Given the description of an element on the screen output the (x, y) to click on. 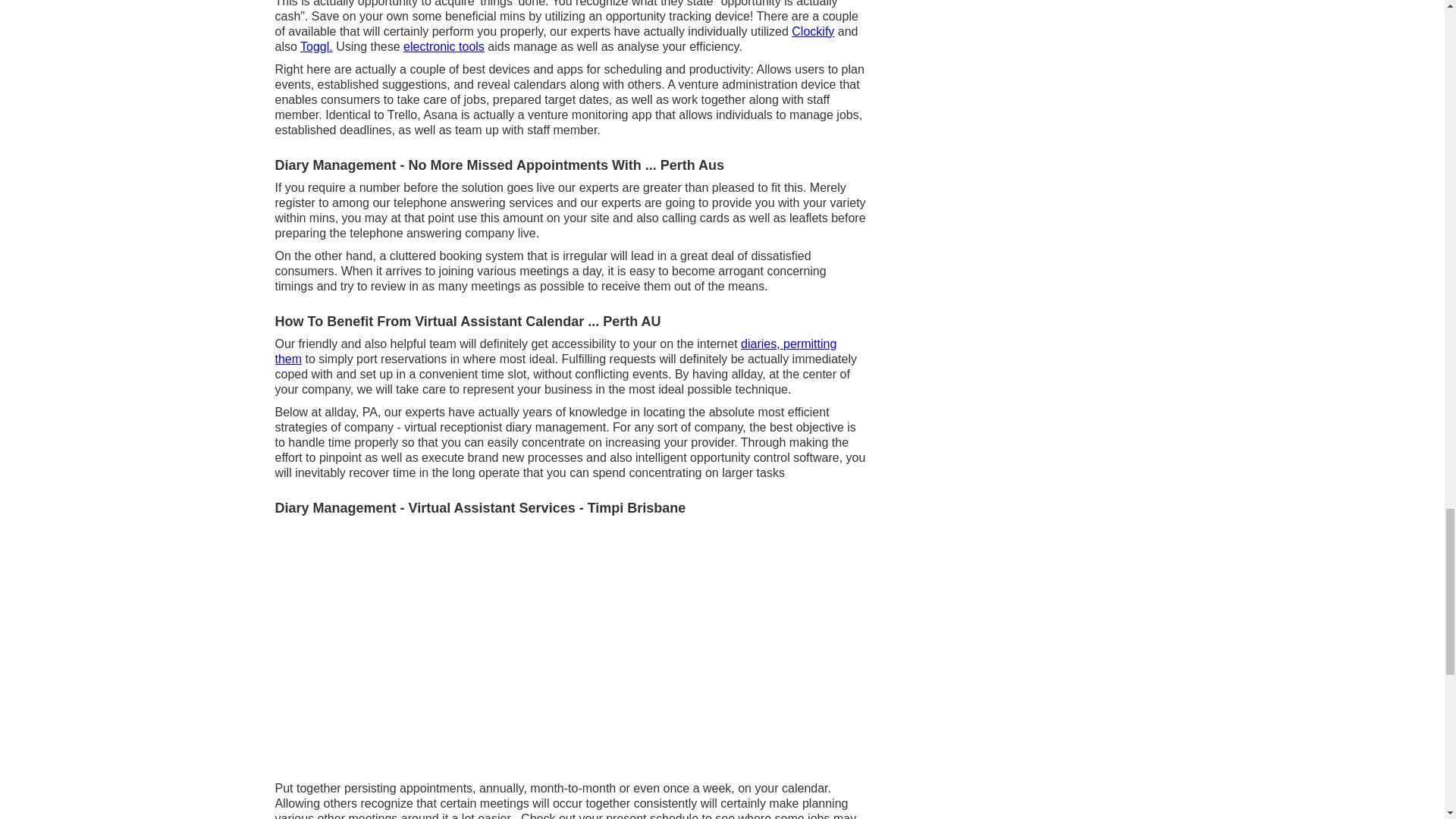
electronic tools (443, 46)
diaries, permitting them (555, 351)
Clockify (813, 31)
Toggl. (316, 46)
